Given the description of an element on the screen output the (x, y) to click on. 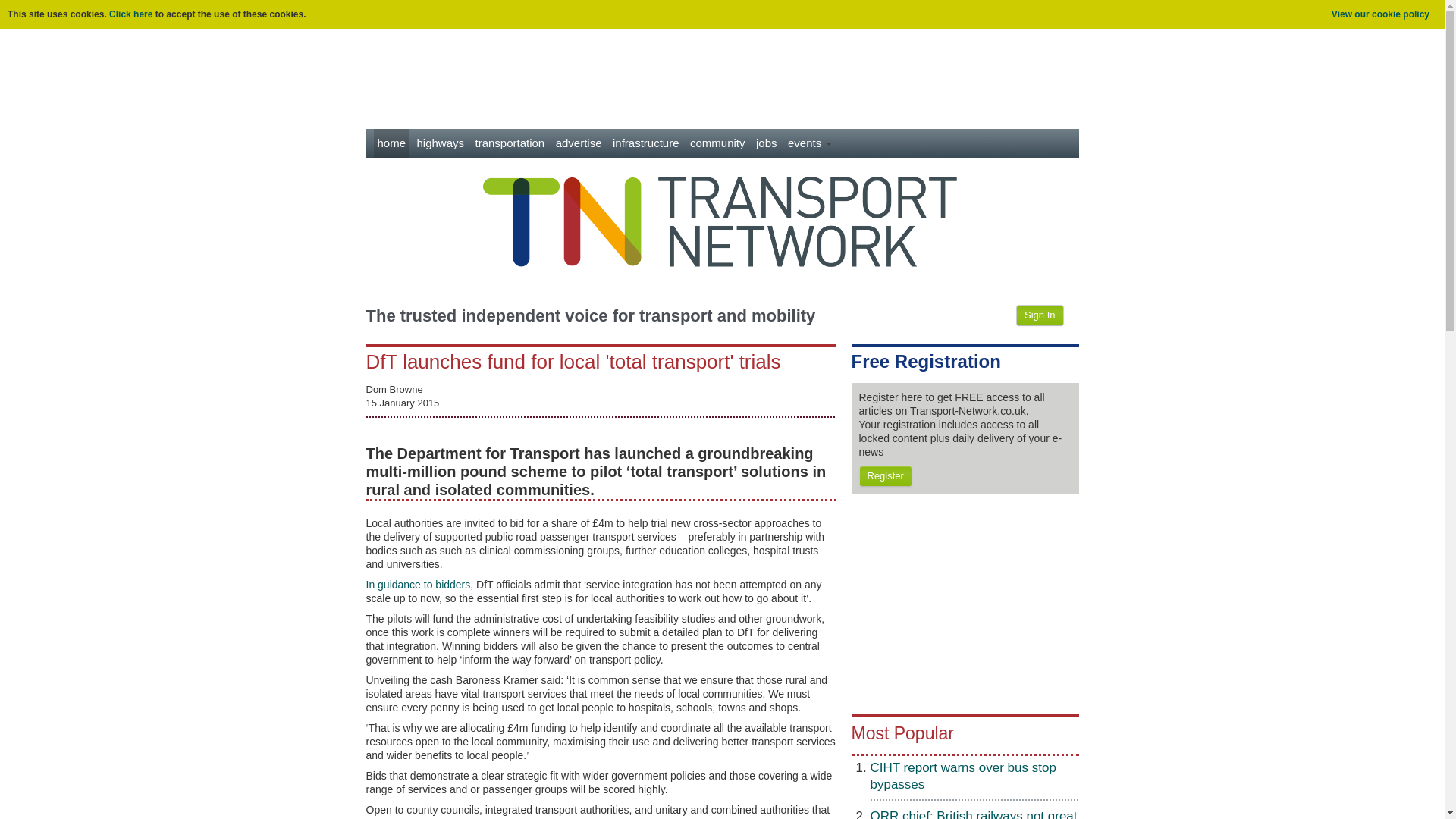
Sign In (1039, 315)
jobs (766, 142)
In guidance to bidders, (419, 584)
ORR chief: British railways not great (973, 814)
events (809, 142)
Click here (130, 14)
CIHT report warns over bus stop bypasses (963, 775)
highways (439, 142)
infrastructure (645, 142)
Register (885, 476)
community (717, 142)
home (390, 142)
advertise (578, 142)
transportation (509, 142)
